Given the description of an element on the screen output the (x, y) to click on. 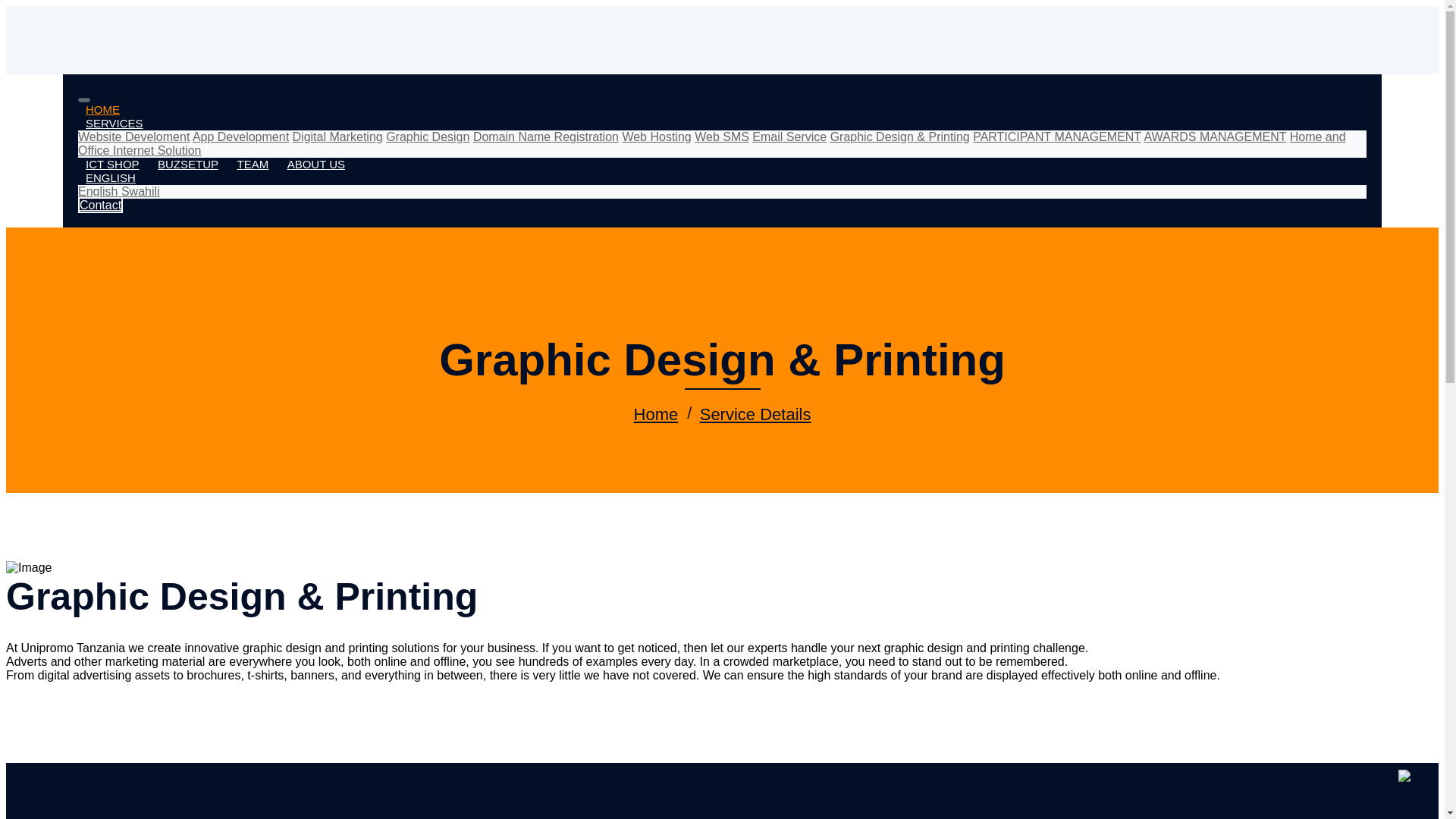
PARTICIPANT MANAGEMENT (1056, 136)
Graphic Design (426, 136)
AWARDS MANAGEMENT (1213, 136)
ENGLISH (110, 176)
Website Develoment (133, 136)
Digital Marketing (337, 136)
Service Details (755, 414)
ABOUT US (315, 162)
App Development (240, 136)
Web Hosting (655, 136)
Swahili (140, 191)
Domain Name Registration (545, 136)
ICT SHOP (112, 162)
Contact (100, 204)
Email Service (789, 136)
